Given the description of an element on the screen output the (x, y) to click on. 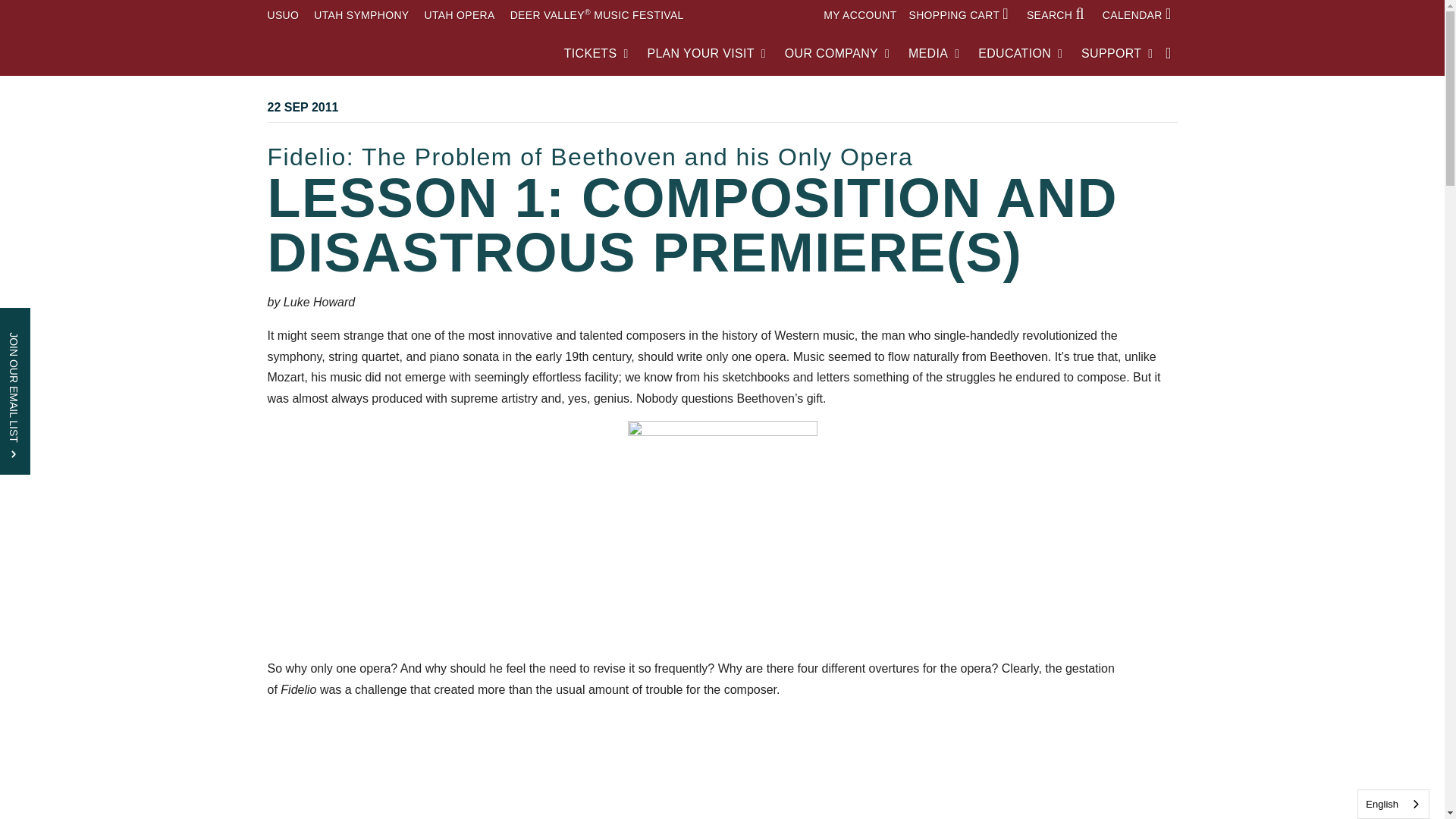
TICKETS (596, 52)
Fidelio - Overture (721, 777)
CALENDAR (1139, 15)
SEARCH (1058, 15)
UTAH SYMPHONY (361, 15)
OUR COMPANY (836, 52)
MY ACCOUNT (860, 15)
MEDIA (933, 52)
SHOPPING CART (961, 15)
USUO (282, 15)
